Given the description of an element on the screen output the (x, y) to click on. 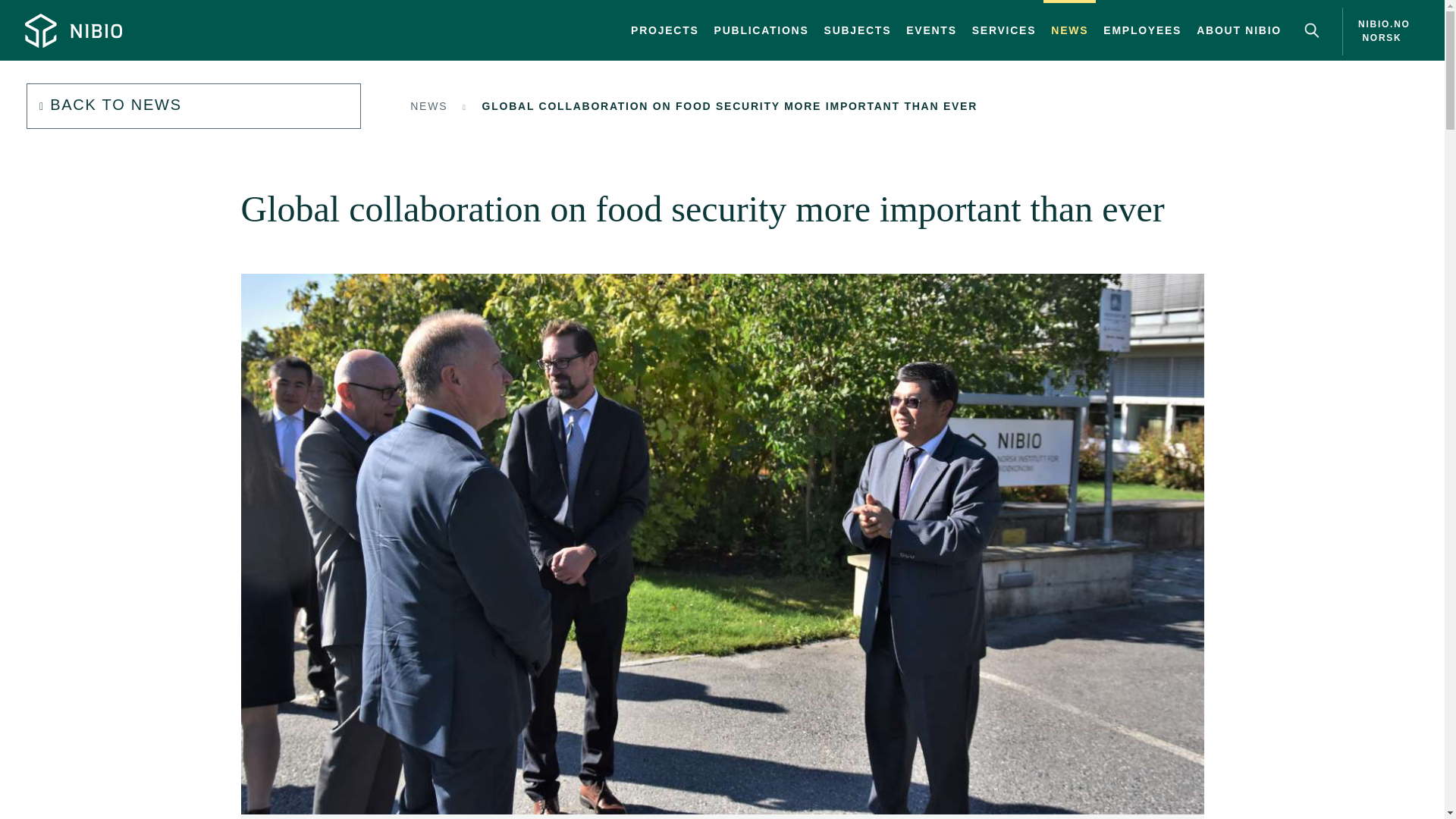
NEWS (1069, 30)
SUBJECTS (857, 30)
PUBLICATIONS (761, 30)
NEWS (428, 120)
Search (1311, 30)
NIBIO.NO NORSK (1376, 31)
ABOUT NIBIO (1238, 30)
BACK TO NEWS (193, 105)
EVENTS (930, 30)
SERVICES (1003, 30)
EMPLOYEES (1142, 30)
PROJECTS (664, 30)
